Given the description of an element on the screen output the (x, y) to click on. 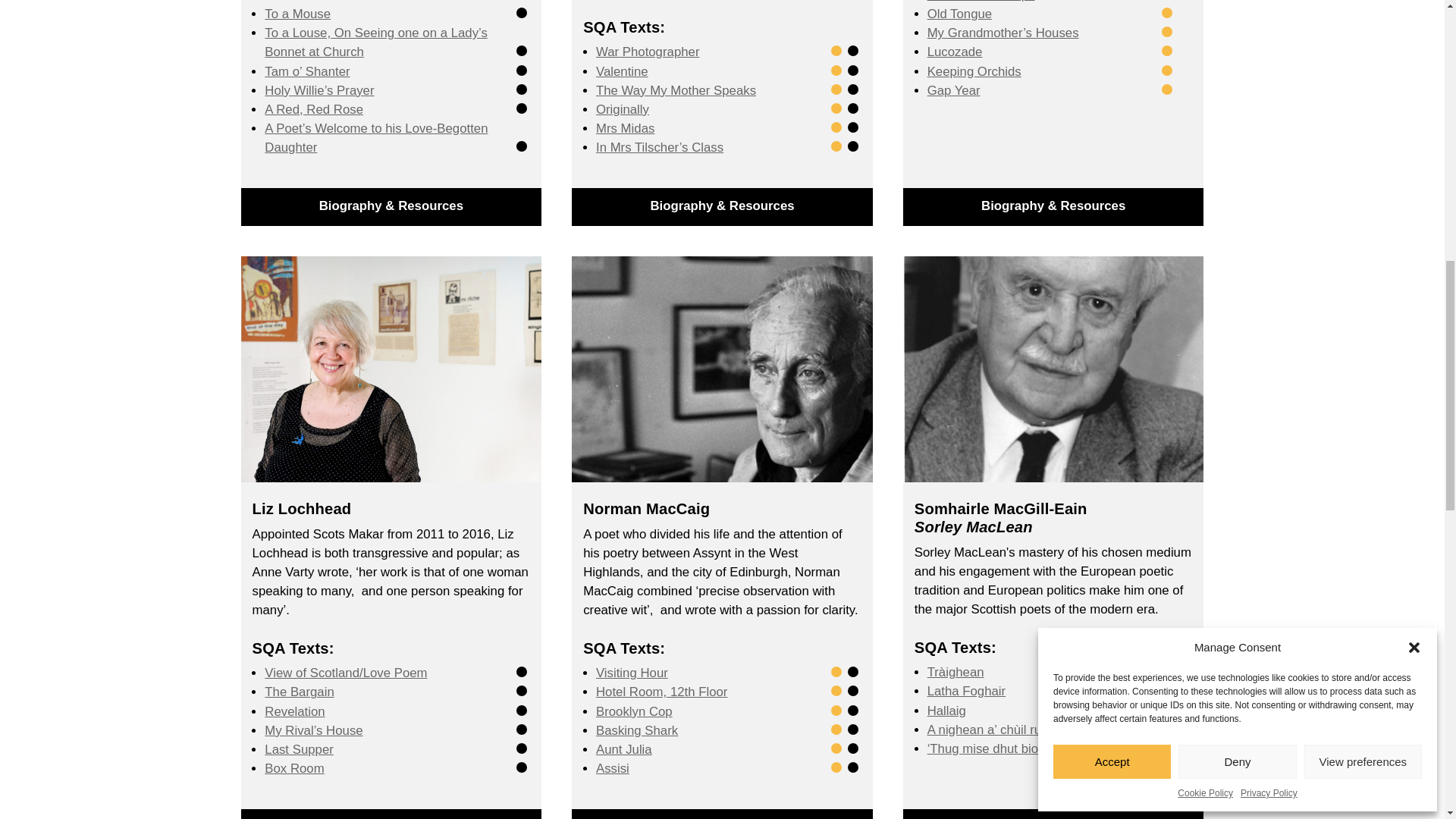
Higher (521, 145)
Higher (521, 50)
Higher (521, 89)
National 5 (836, 50)
Higher (521, 12)
Higher (853, 50)
Higher (521, 70)
Higher (521, 108)
